Given the description of an element on the screen output the (x, y) to click on. 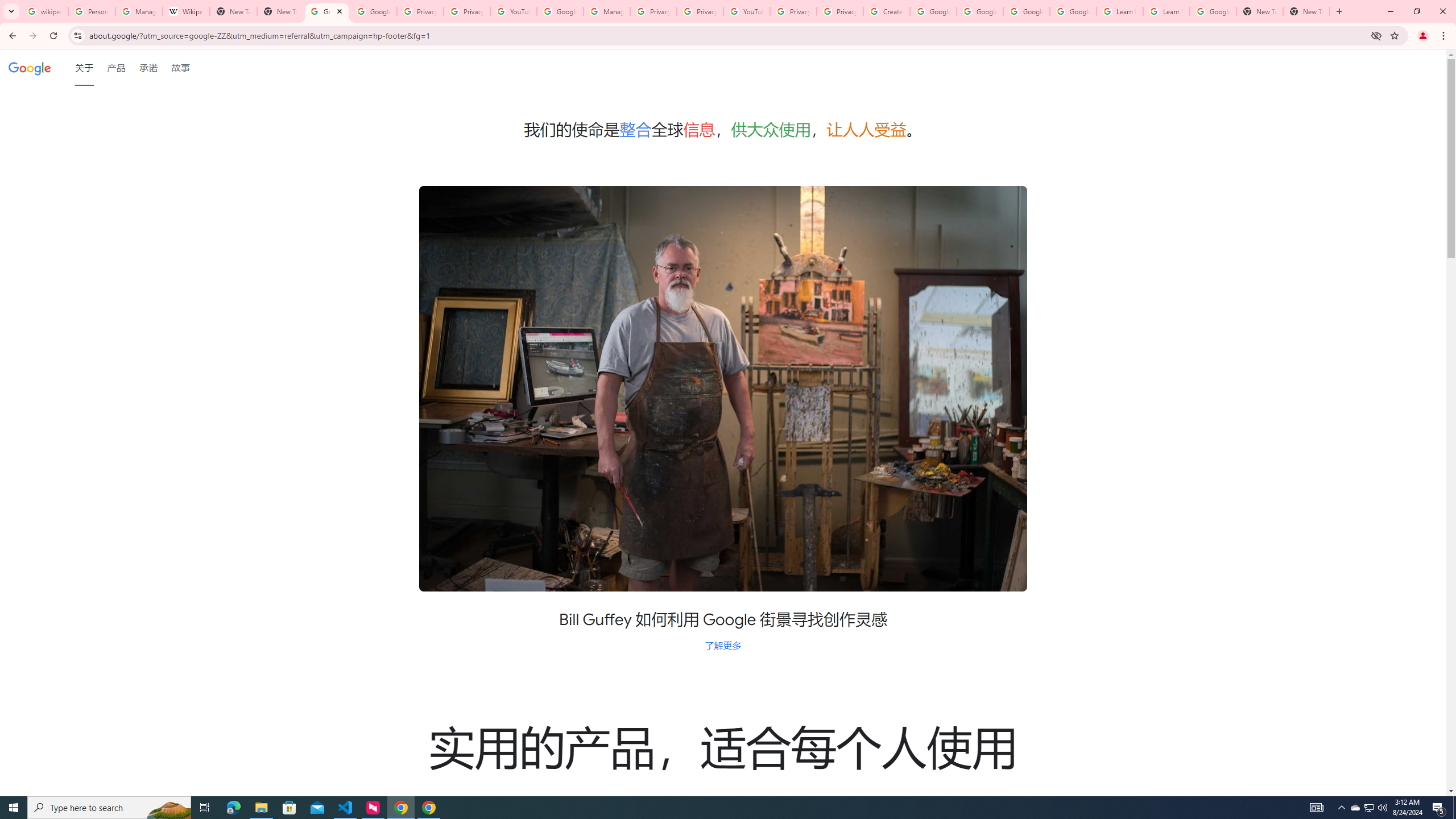
System (6, 6)
Restore (1416, 11)
